Given the description of an element on the screen output the (x, y) to click on. 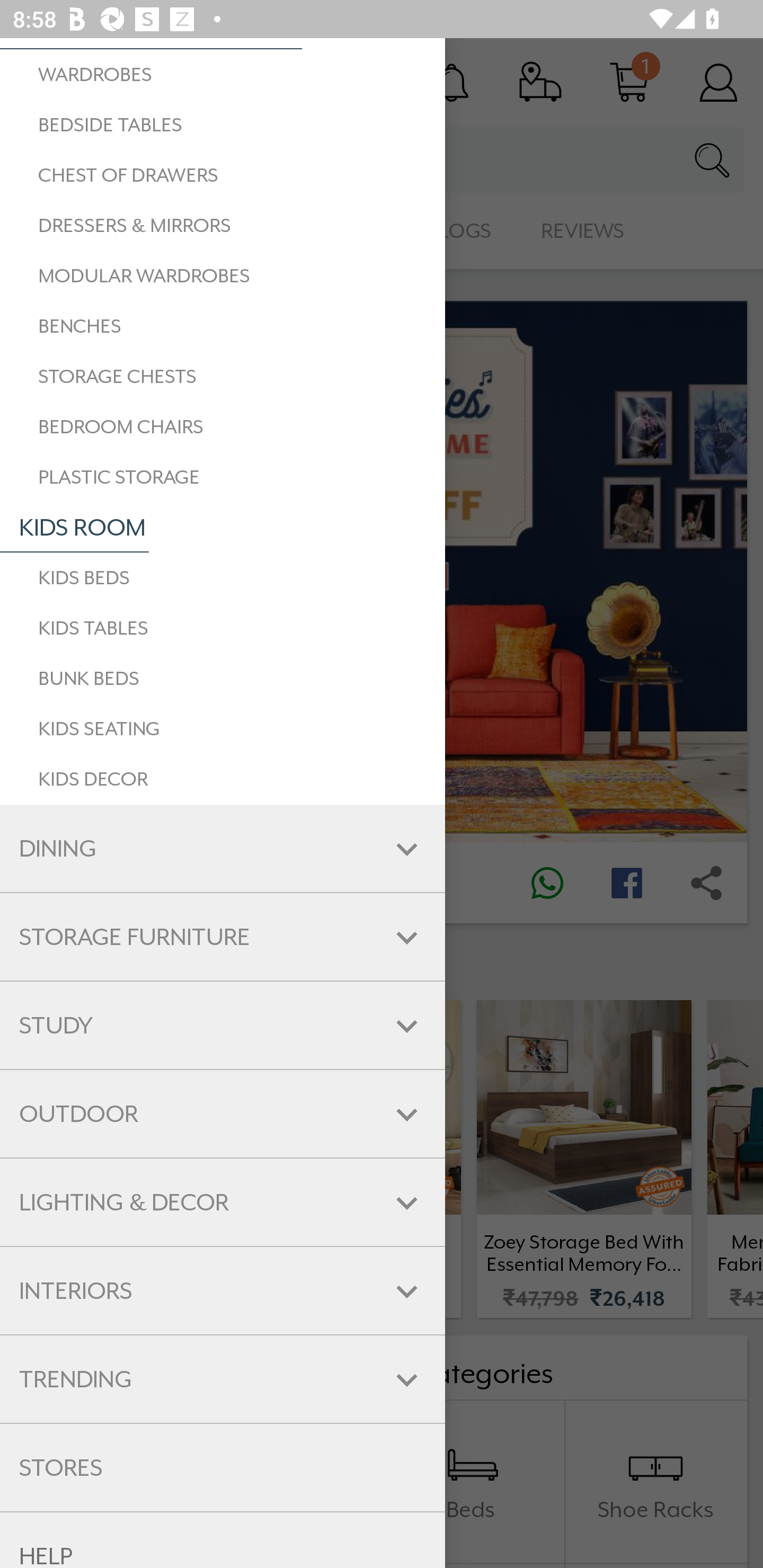
WARDROBES (222, 74)
BEDSIDE TABLES (222, 125)
CHEST OF DRAWERS (222, 175)
DRESSERS & MIRRORS (222, 225)
MODULAR WARDROBES (222, 275)
BENCHES (222, 326)
STORAGE CHESTS (222, 376)
BEDROOM CHAIRS (222, 427)
PLASTIC STORAGE (222, 477)
KIDS ROOM (74, 527)
KIDS BEDS (222, 577)
KIDS TABLES (222, 627)
BUNK BEDS (222, 678)
KIDS SEATING (222, 729)
KIDS DECOR (222, 779)
DINING  (222, 848)
STORAGE FURNITURE  (222, 936)
STUDY  (222, 1025)
OUTDOOR  (222, 1113)
LIGHTING & DECOR  (222, 1202)
INTERIORS  (222, 1290)
TRENDING  (222, 1378)
STORES (222, 1468)
HELP (222, 1539)
